Given the description of an element on the screen output the (x, y) to click on. 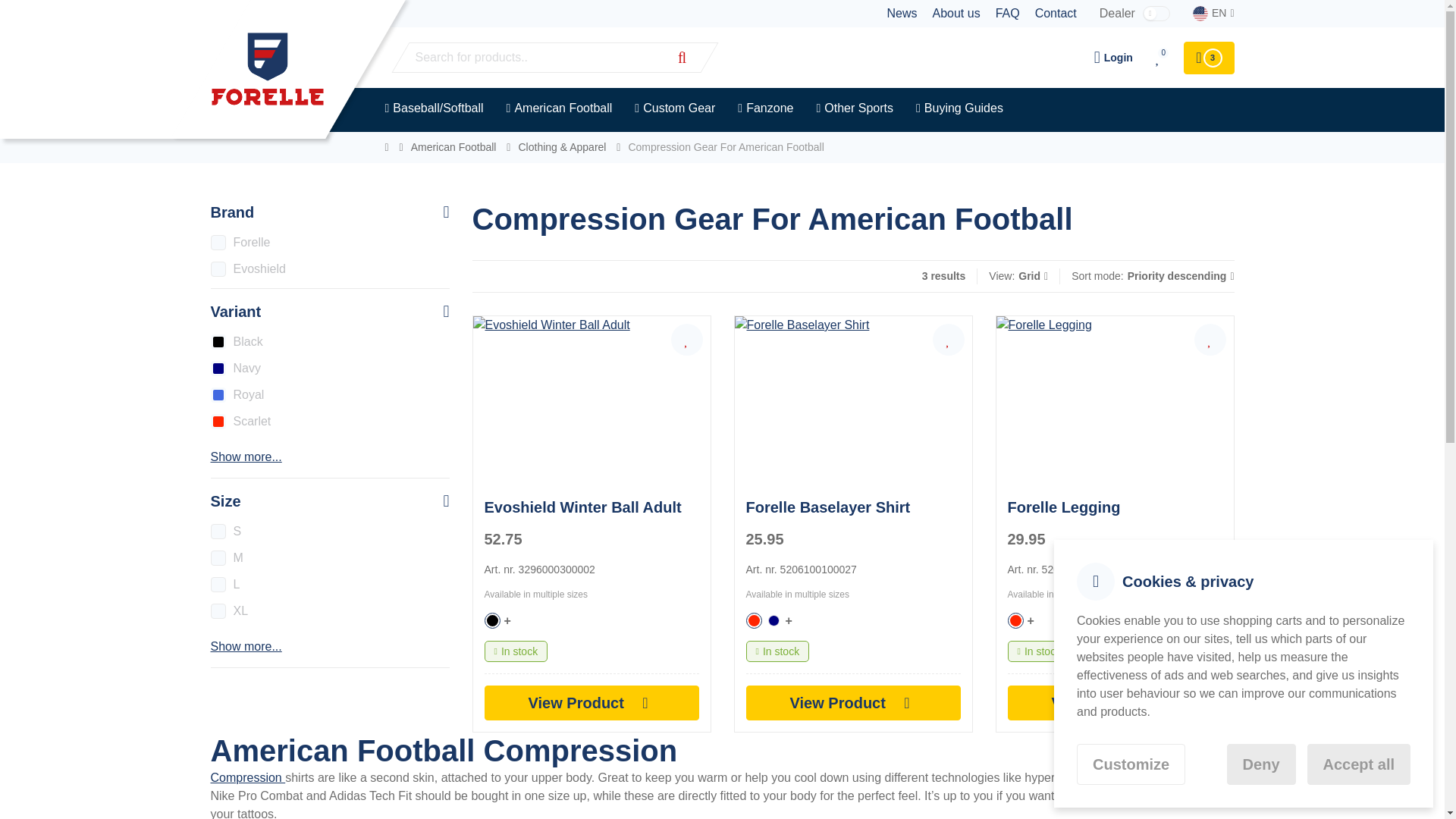
Login (1113, 57)
EN (1213, 12)
on (218, 557)
on (218, 242)
on (218, 421)
on (218, 268)
on (218, 611)
on (218, 394)
News (901, 13)
3 (1208, 57)
